Given the description of an element on the screen output the (x, y) to click on. 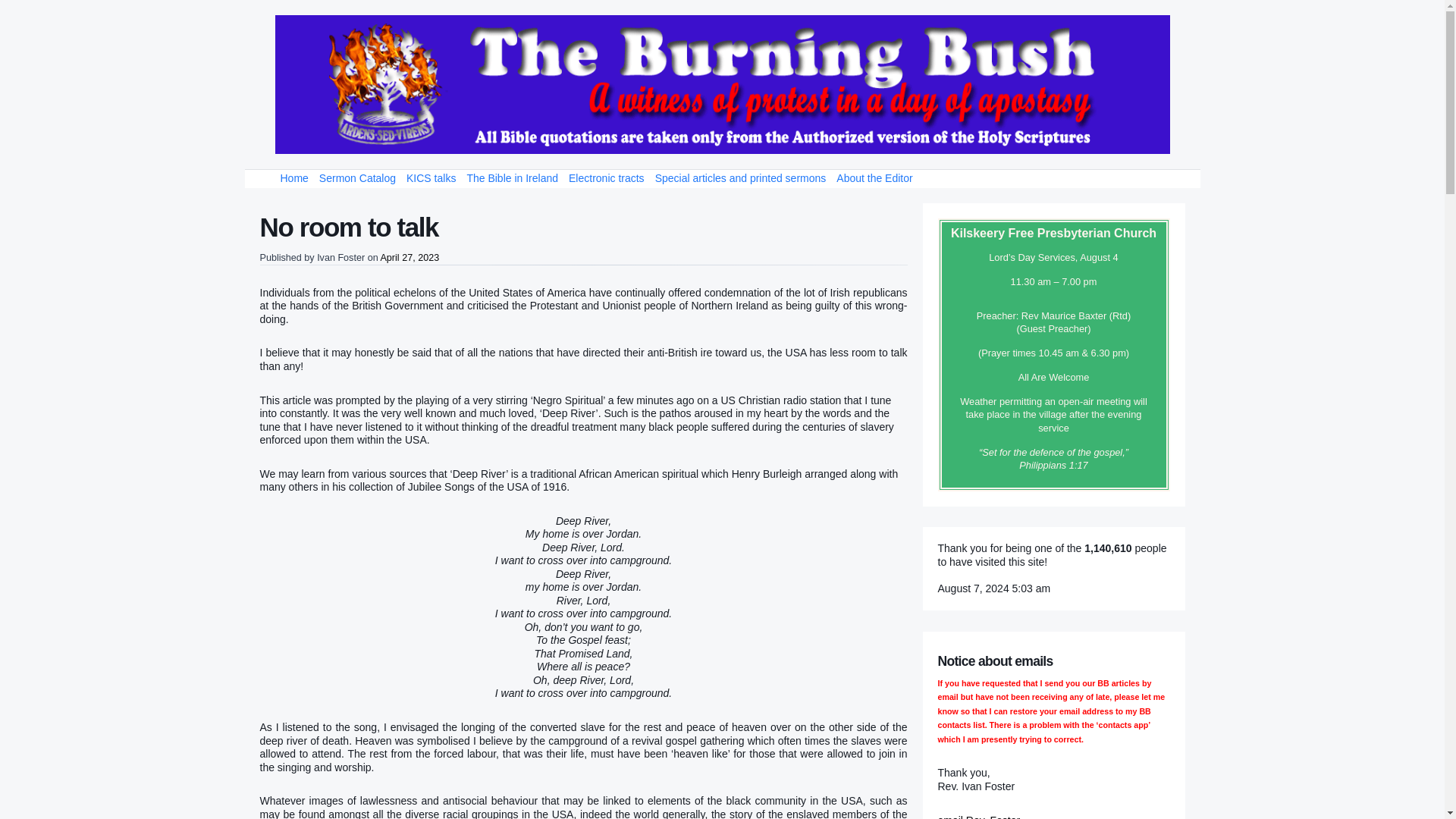
A witness of protest in a day of apostasy (722, 84)
April 27, 2023 (409, 257)
Special articles and printed sermons (740, 179)
Electronic tracts (606, 179)
Sermon Catalog (357, 179)
Home (294, 179)
About the Editor (874, 179)
KICS talks (431, 179)
email Rev. Foster (978, 816)
The Bible in Ireland (512, 179)
